Given the description of an element on the screen output the (x, y) to click on. 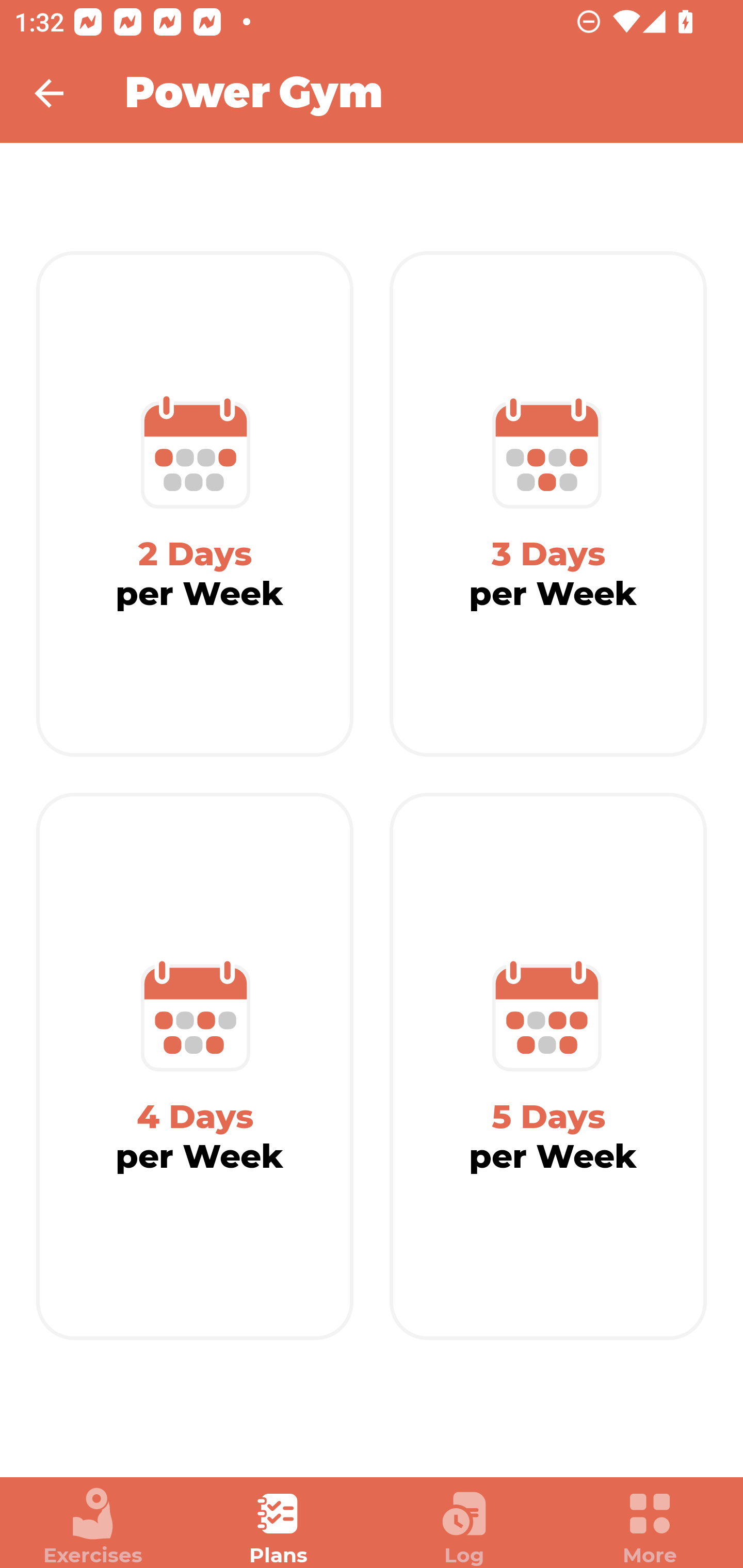
Back (62, 92)
2 Days
 per Week (194, 503)
3 Days
 per Week (547, 503)
4 Days
 per Week (194, 1066)
5 Days
 per Week (547, 1066)
Exercises (92, 1527)
Plans (278, 1527)
Log (464, 1527)
More (650, 1527)
